Given the description of an element on the screen output the (x, y) to click on. 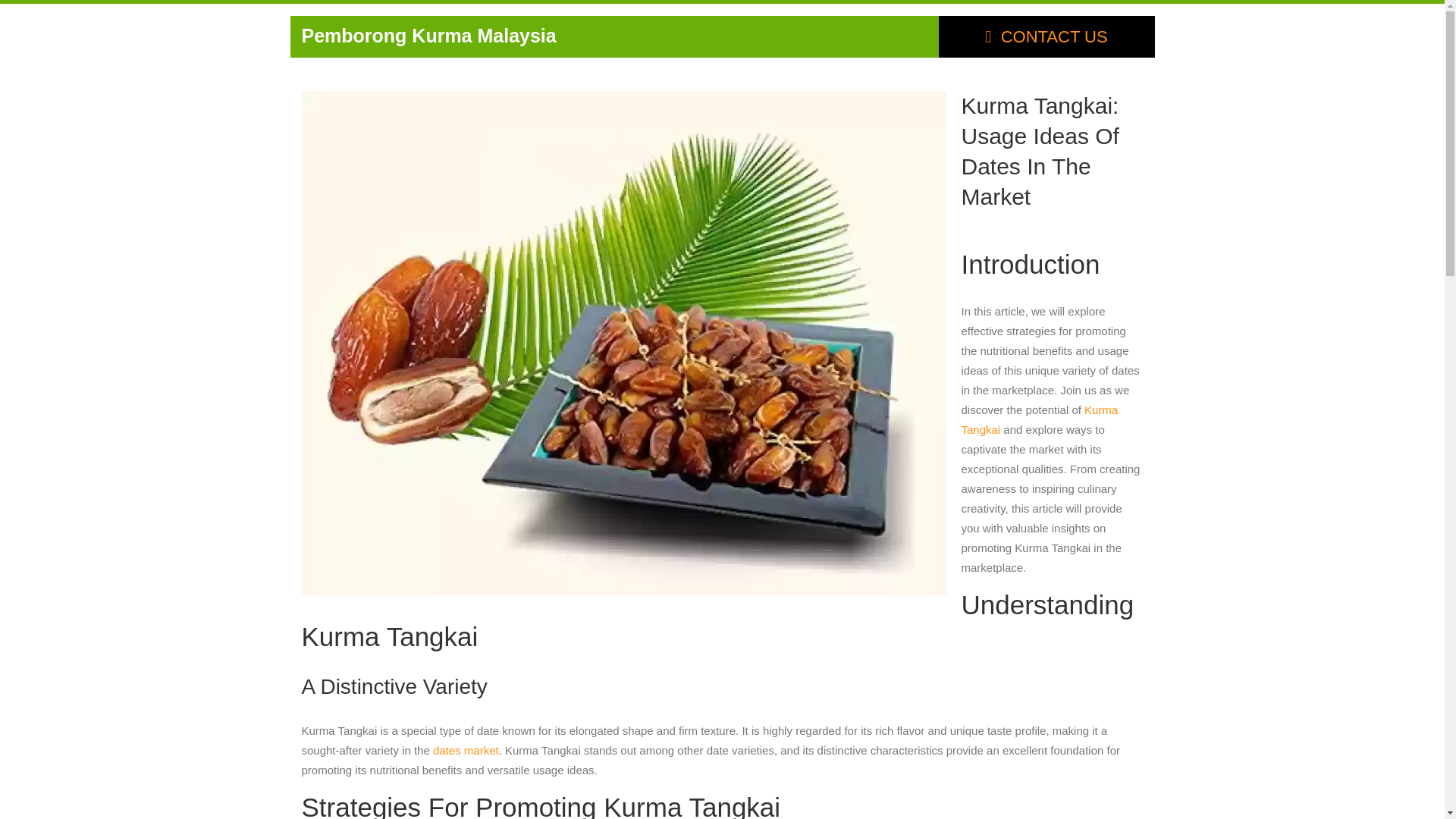
Pemborong Kurma Malaysia (428, 35)
  CONTACT US (1045, 36)
dates market (465, 749)
Kurma Tangkai (1039, 419)
